Given the description of an element on the screen output the (x, y) to click on. 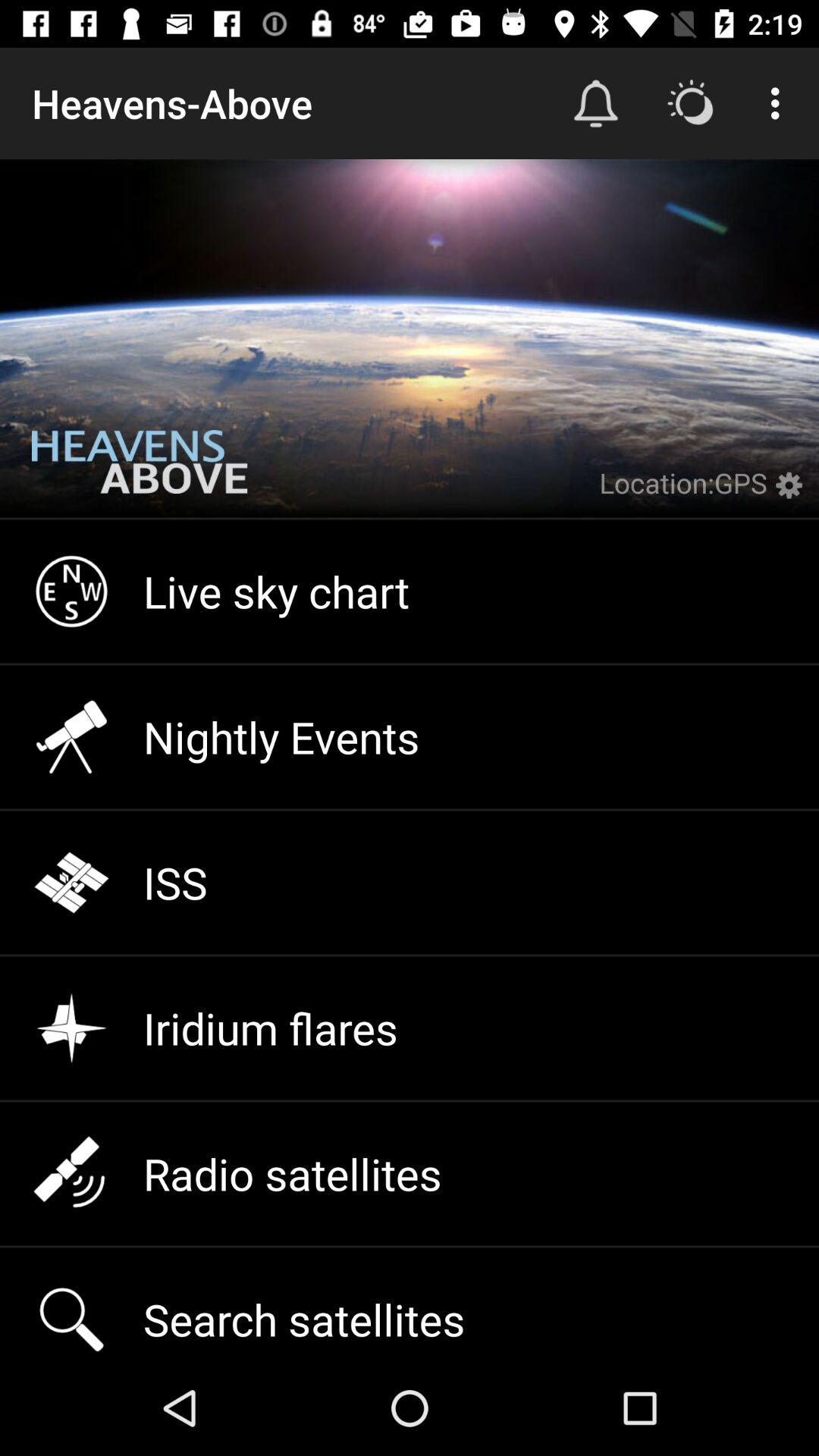
turn on icon below the radio satellites icon (409, 1303)
